Given the description of an element on the screen output the (x, y) to click on. 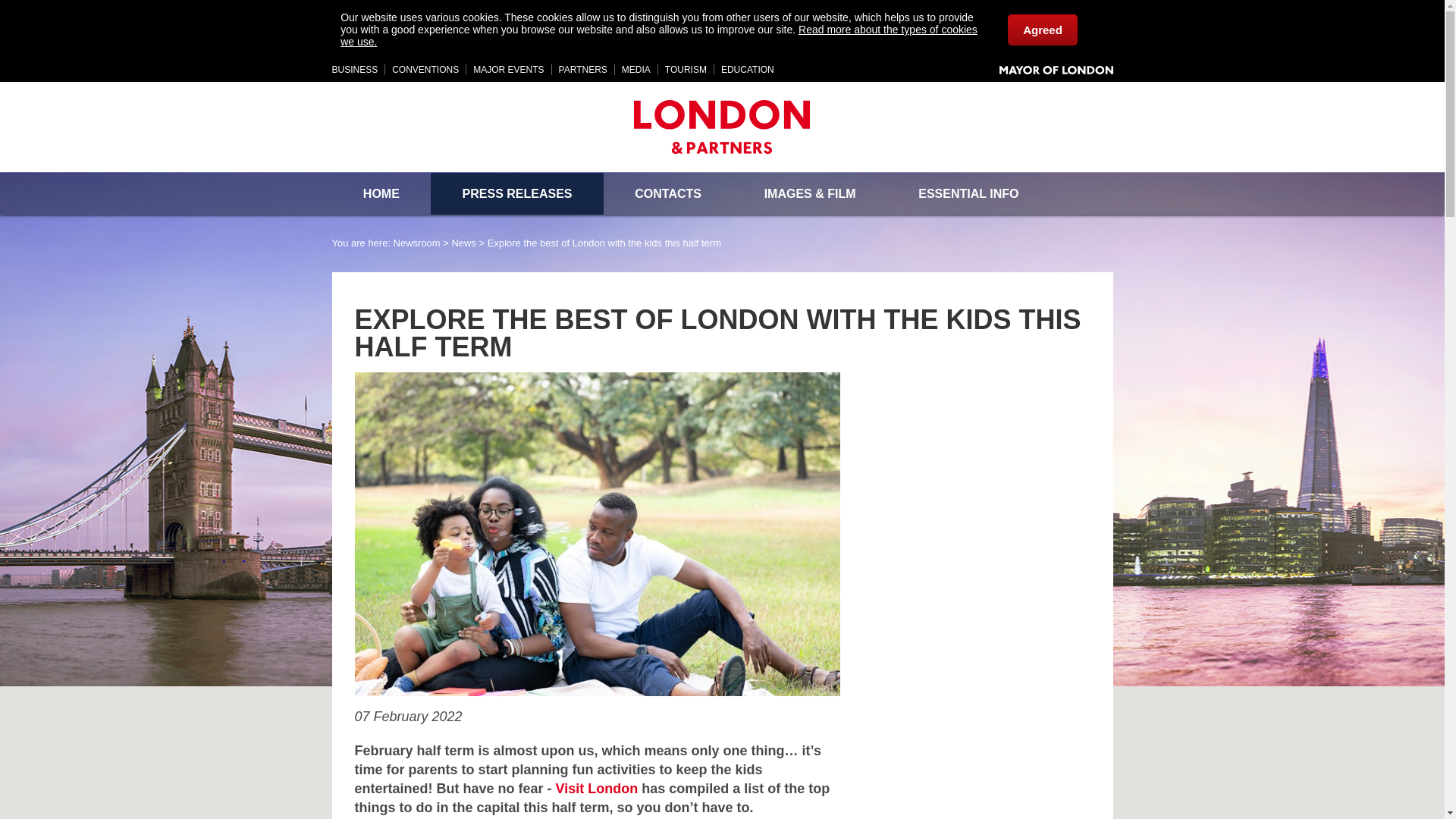
Newsroom (417, 242)
Agreed (1042, 29)
MAJOR EVENTS (508, 69)
Link will open in a new window (597, 788)
PARTNERS (583, 69)
HOME (380, 193)
News (463, 242)
Link will open in a new window (747, 69)
News (463, 242)
PRESS RELEASES (517, 193)
BUSINESS (354, 69)
Link will open in a new window (354, 69)
CONVENTIONS (424, 69)
CONTACTS (668, 193)
Visit London (597, 788)
